Given the description of an element on the screen output the (x, y) to click on. 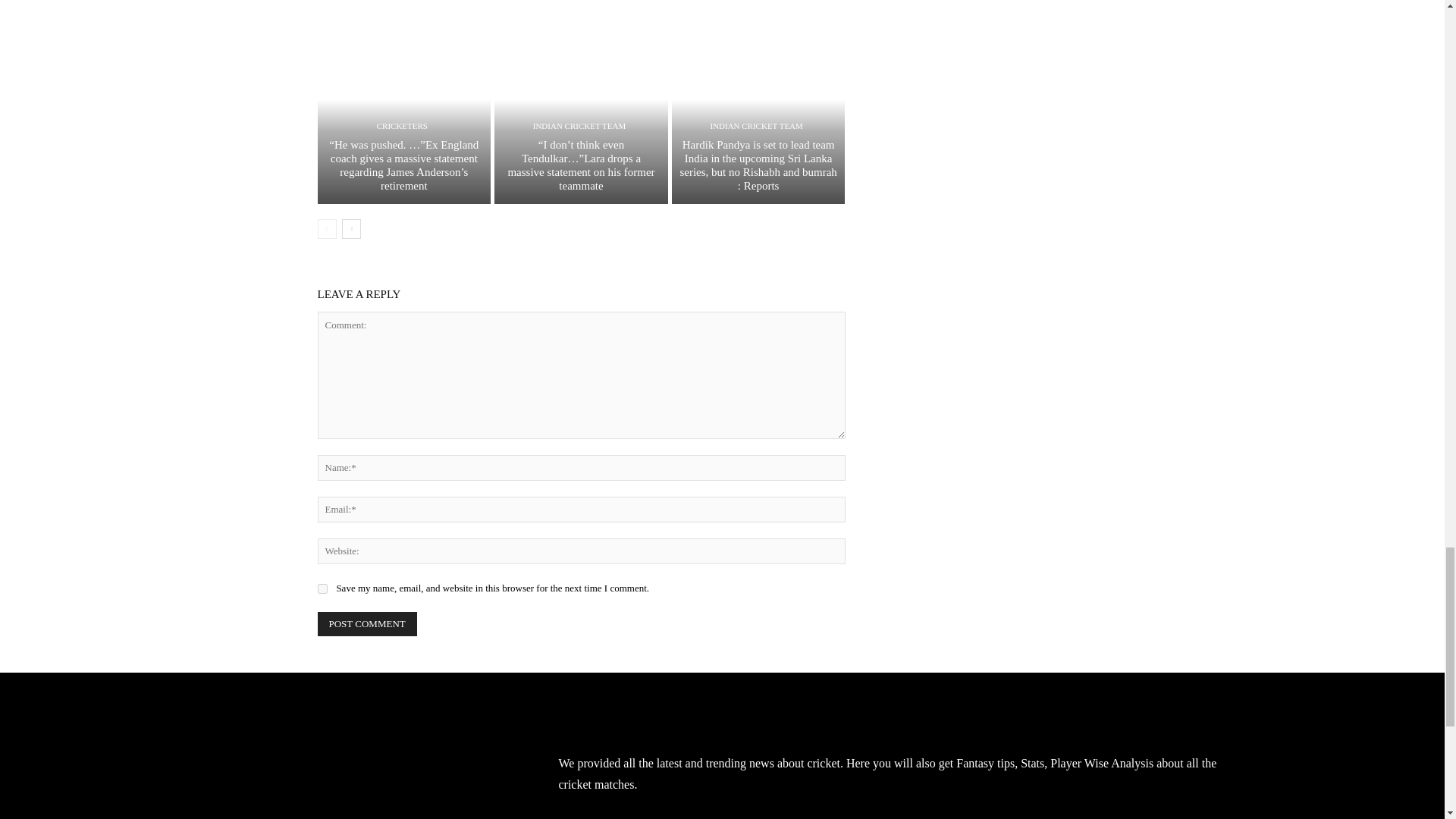
yes (321, 588)
Post Comment (366, 623)
